Given the description of an element on the screen output the (x, y) to click on. 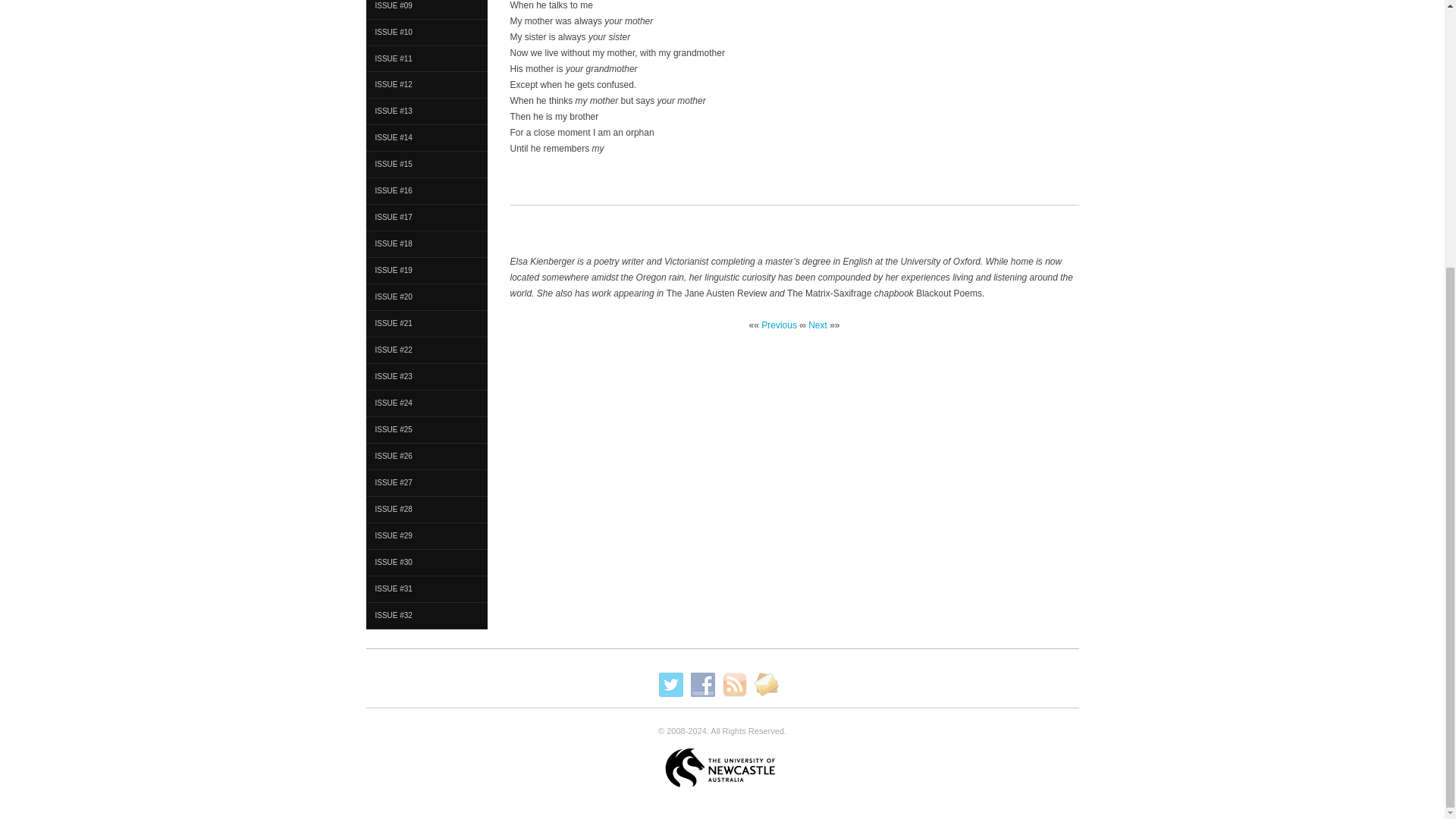
E-mail Us! (765, 684)
Follow us on Twitter (670, 684)
Subscribe to our RSS feed (733, 684)
Like us on Facebook (702, 684)
